Given the description of an element on the screen output the (x, y) to click on. 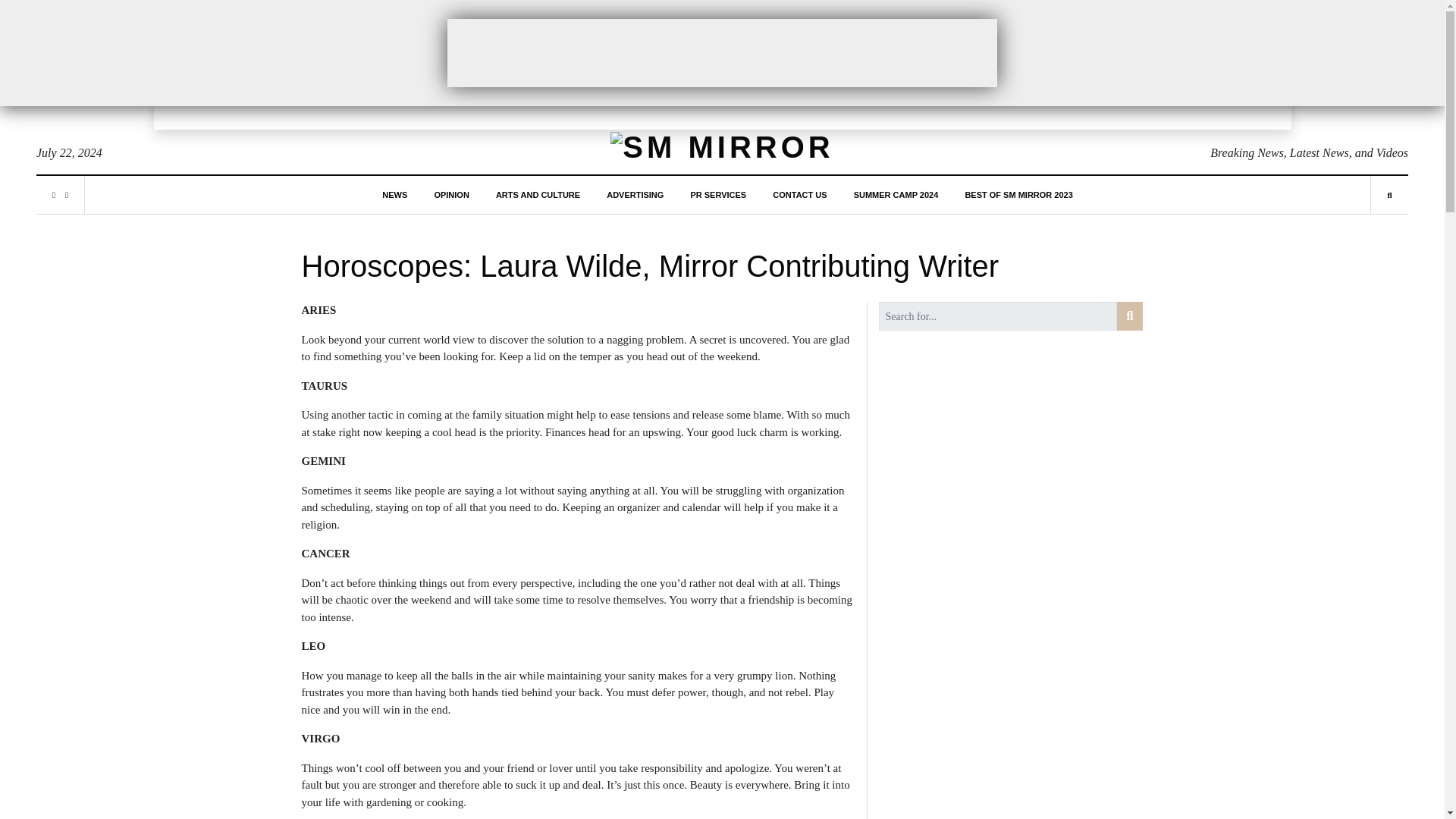
ADVERTISING (635, 194)
PR SERVICES (717, 194)
ARTS AND CULTURE (537, 194)
3rd party ad content (721, 52)
OPINION (450, 194)
BEST OF SM MIRROR 2023 (1017, 194)
CONTACT US (800, 194)
SUMMER CAMP 2024 (896, 194)
